Given the description of an element on the screen output the (x, y) to click on. 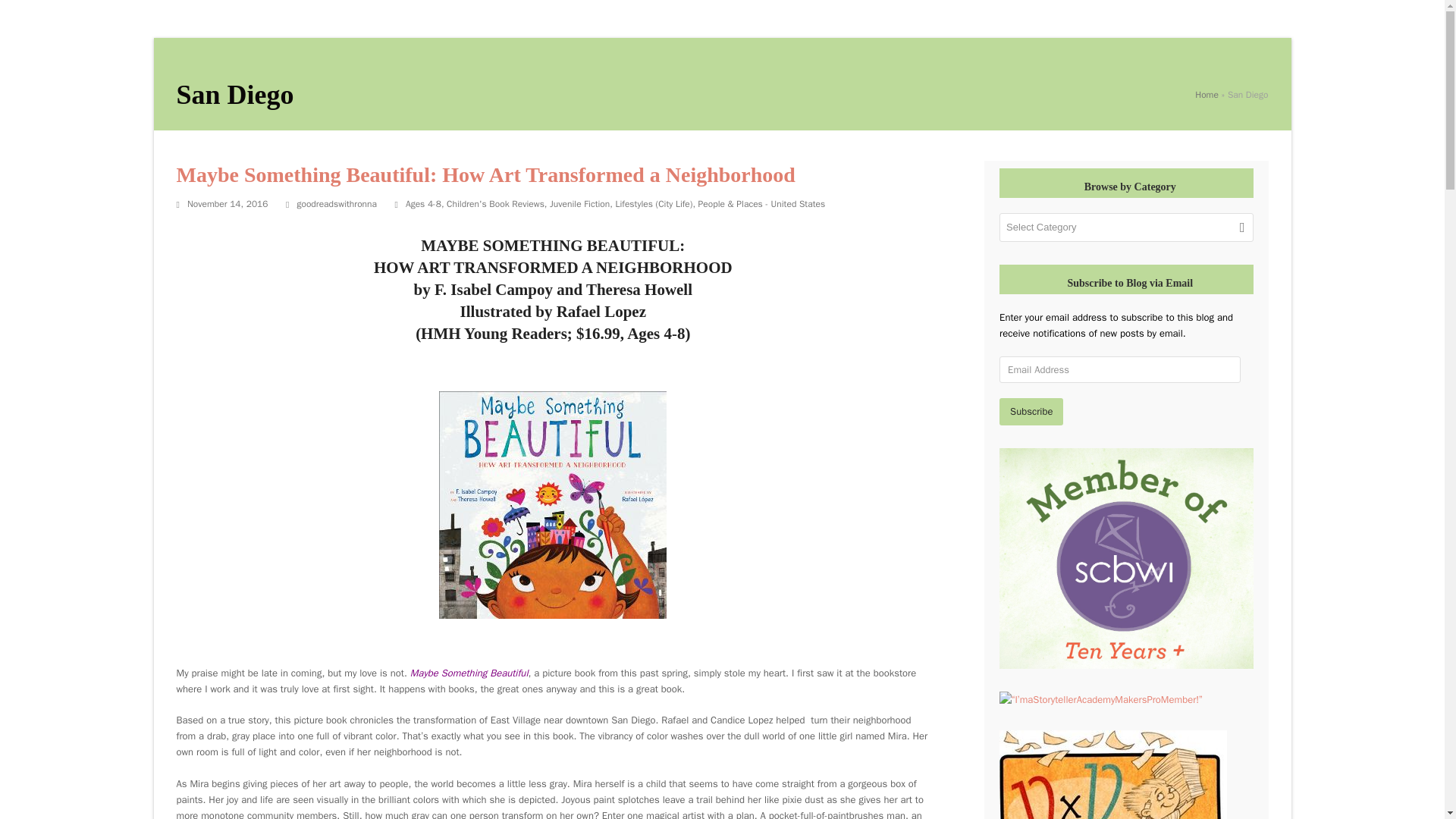
Ages 4-8 (423, 203)
Home (1206, 94)
Juvenile Fiction (580, 203)
Maybe Something Beautiful (469, 672)
Posts by goodreadswithronna (337, 203)
goodreadswithronna (337, 203)
Children's Book Reviews (495, 203)
